Given the description of an element on the screen output the (x, y) to click on. 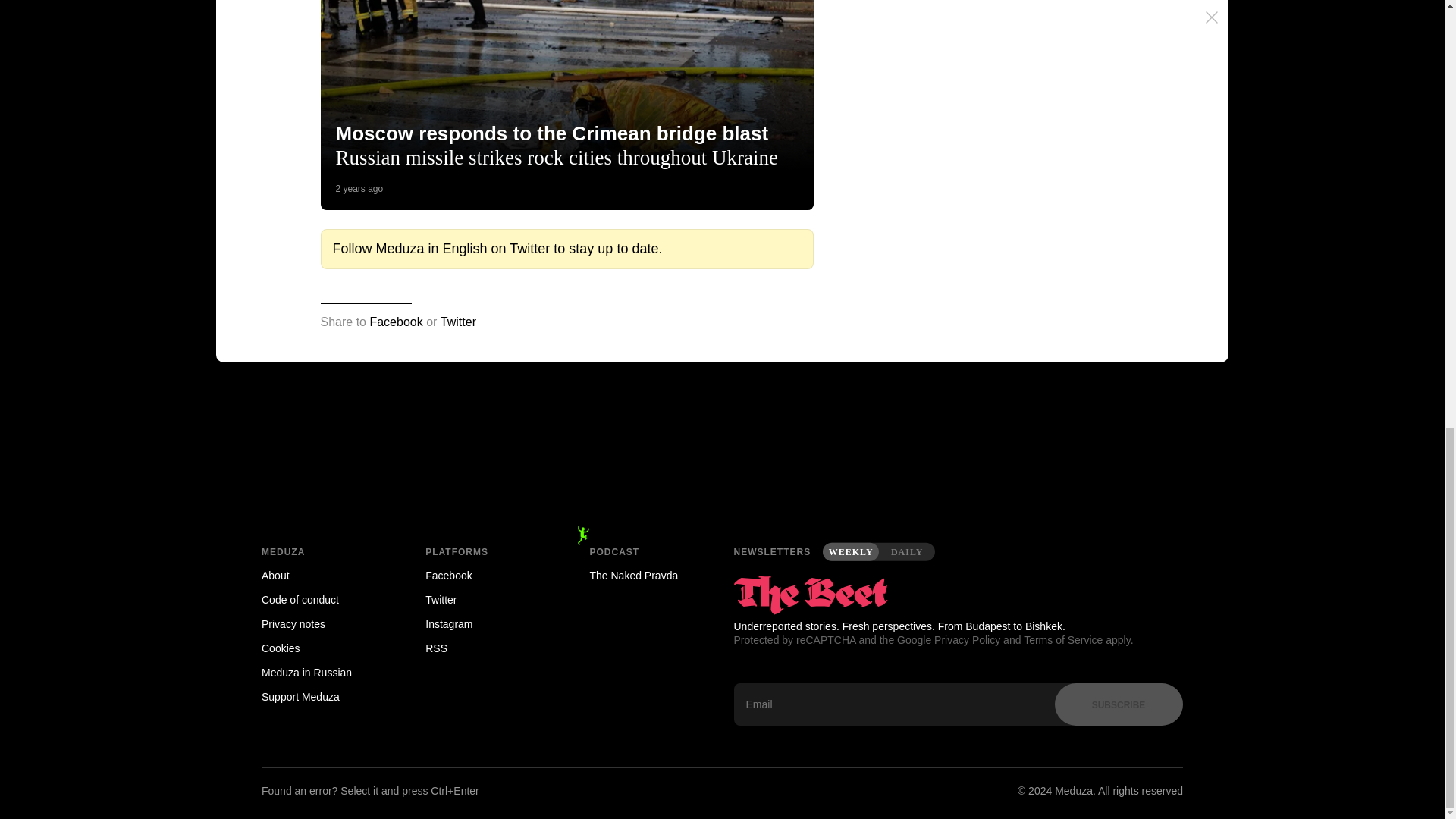
Facebook (395, 322)
The Naked Pravda (650, 575)
Meduza in Russian (322, 672)
About (322, 575)
Facebook (486, 575)
Code of conduct (322, 599)
Twitter (486, 599)
Cookies (322, 648)
Instagram (486, 623)
Privacy notes (322, 623)
